Given the description of an element on the screen output the (x, y) to click on. 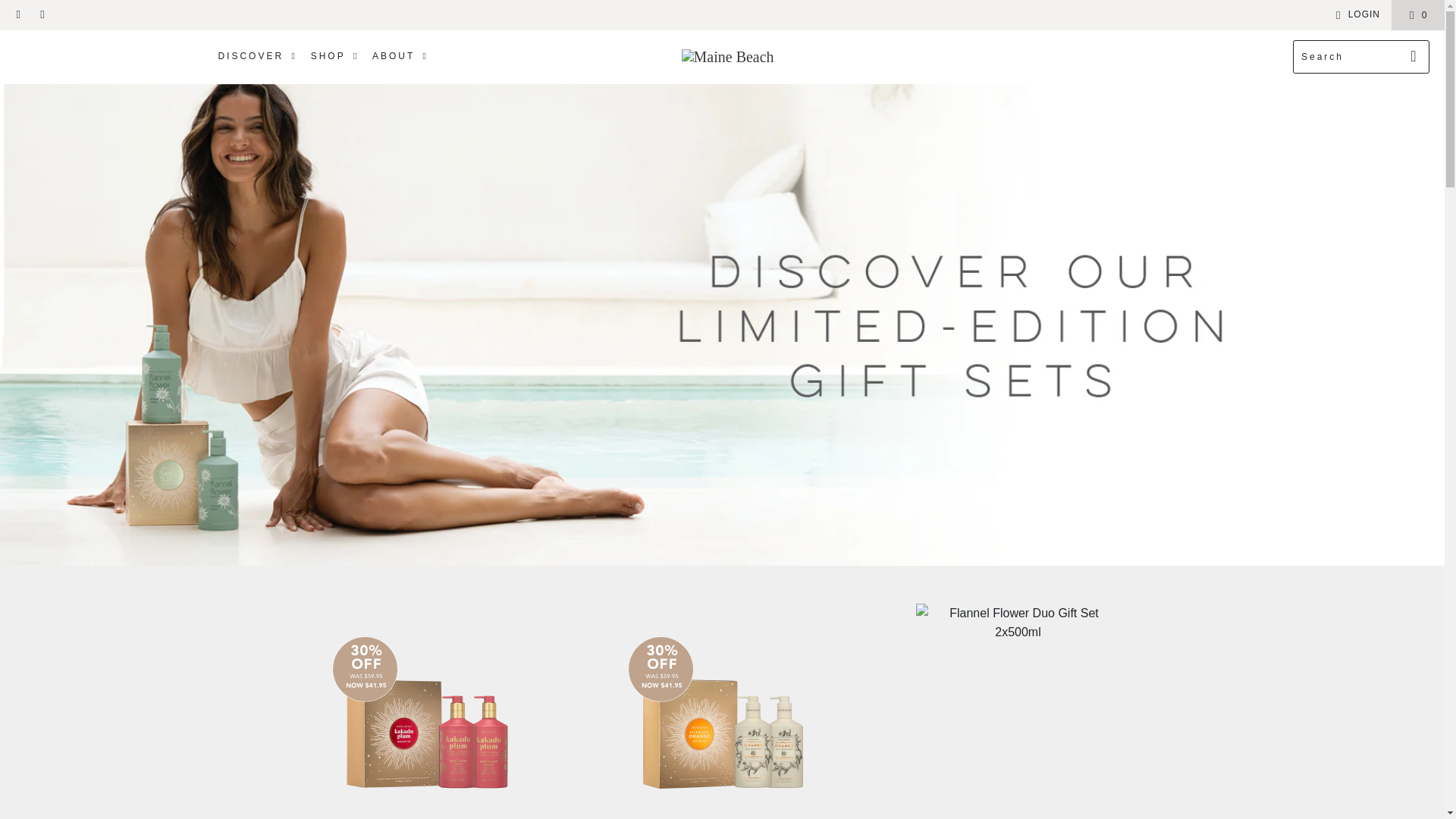
Maine Beach on Instagram (41, 14)
My Account  (1355, 14)
Maine Beach (727, 56)
Maine Beach on Facebook (17, 14)
